Given the description of an element on the screen output the (x, y) to click on. 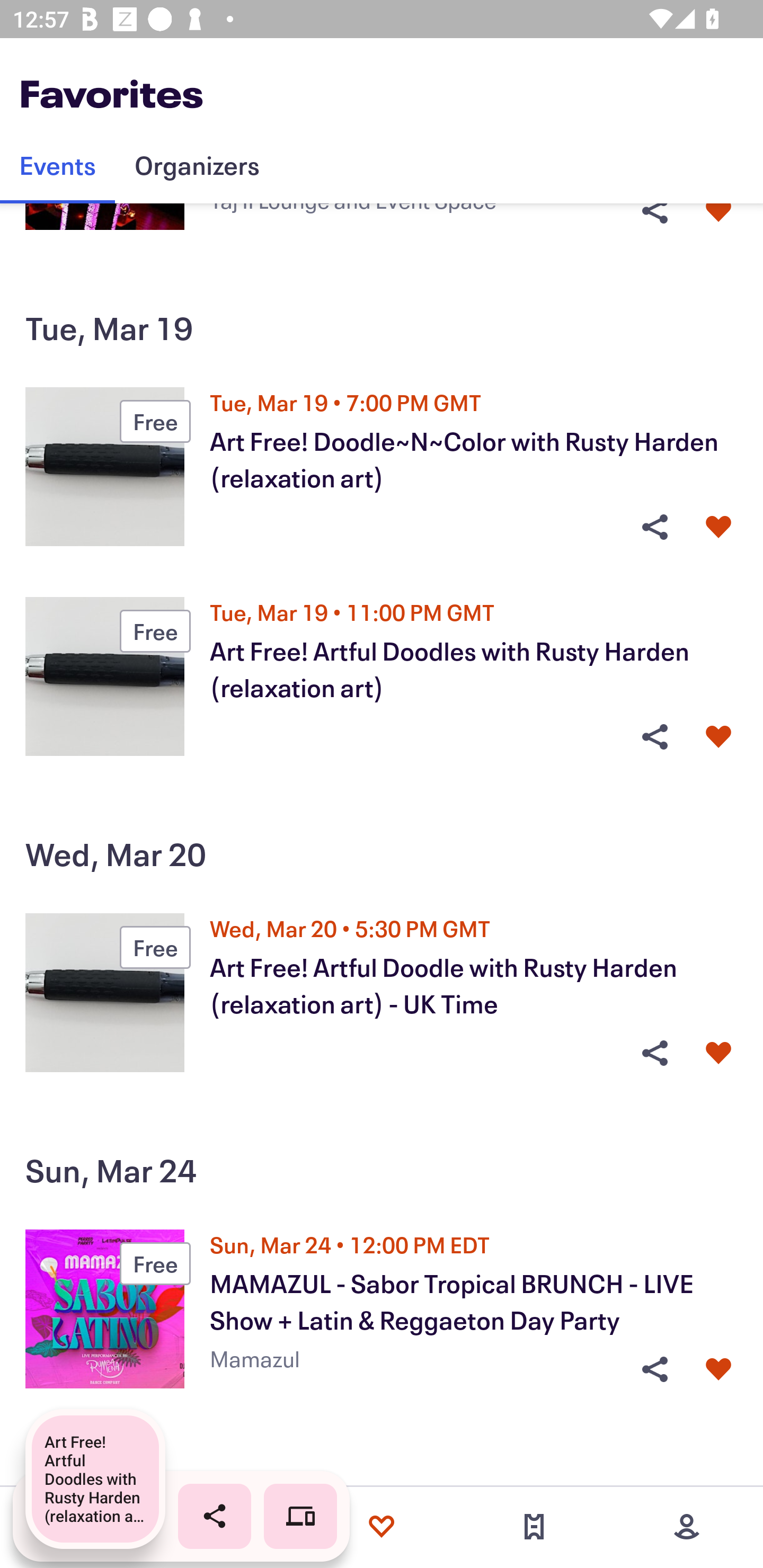
Organizers (196, 165)
Share Event (654, 216)
Unlike event (718, 216)
Share Event (654, 526)
Unlike event (718, 526)
Share Event (654, 736)
Unlike event (718, 736)
Share Event (654, 1052)
Unlike event (718, 1052)
Share Event (654, 1368)
Unlike event (718, 1368)
Favorites (381, 1526)
Tickets (533, 1526)
More (686, 1526)
